Given the description of an element on the screen output the (x, y) to click on. 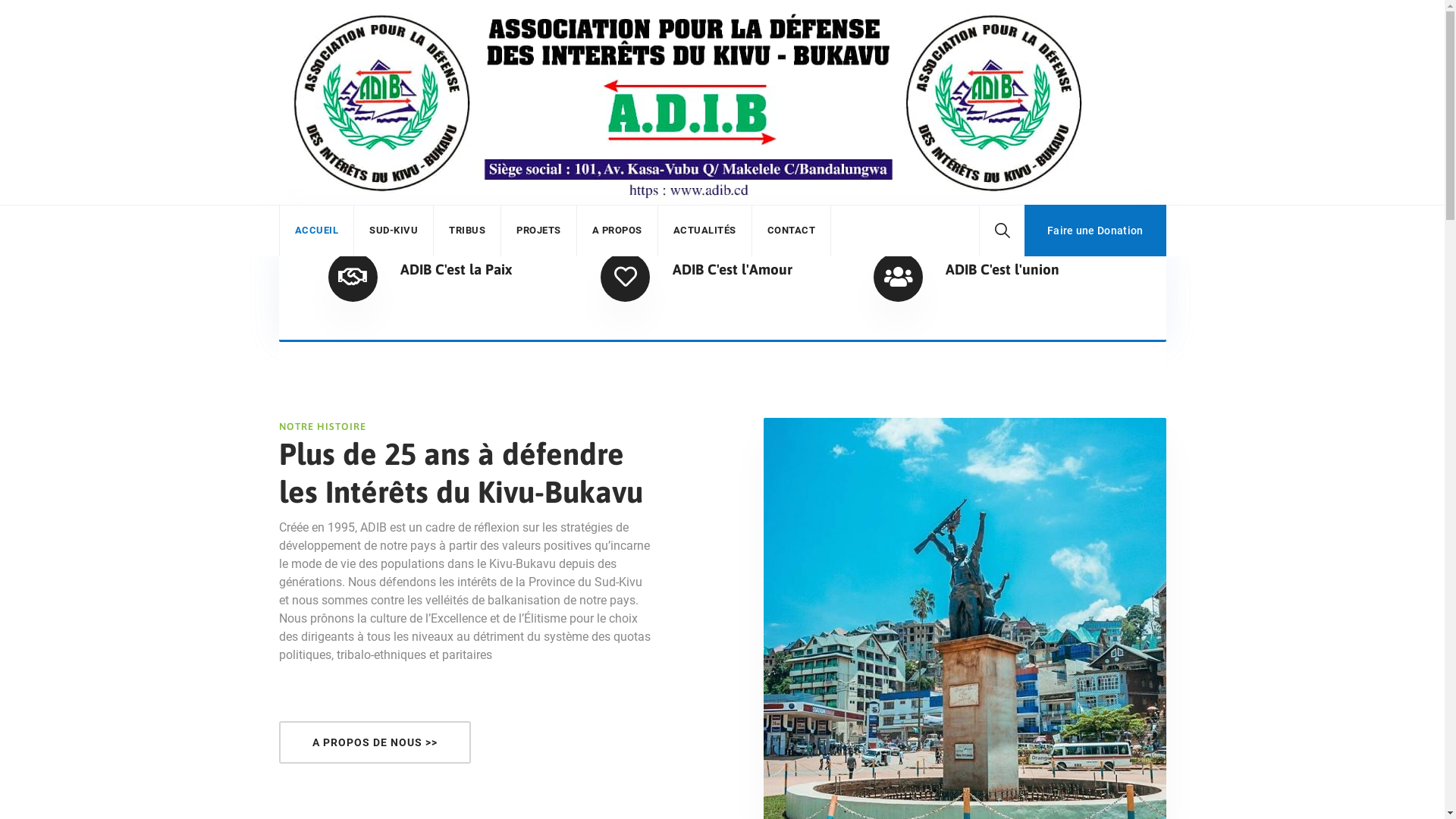
ACCUEIL Element type: text (316, 230)
A PROPOS DE NOUS >> Element type: text (374, 742)
ADIB Element type: hover (688, 102)
A PROPOS Element type: text (616, 230)
Faire une Donation Element type: text (1094, 230)
TRIBUS Element type: text (466, 230)
PROJETS Element type: text (538, 230)
CONTACT Element type: text (791, 230)
SUD-KIVU Element type: text (393, 230)
